Given the description of an element on the screen output the (x, y) to click on. 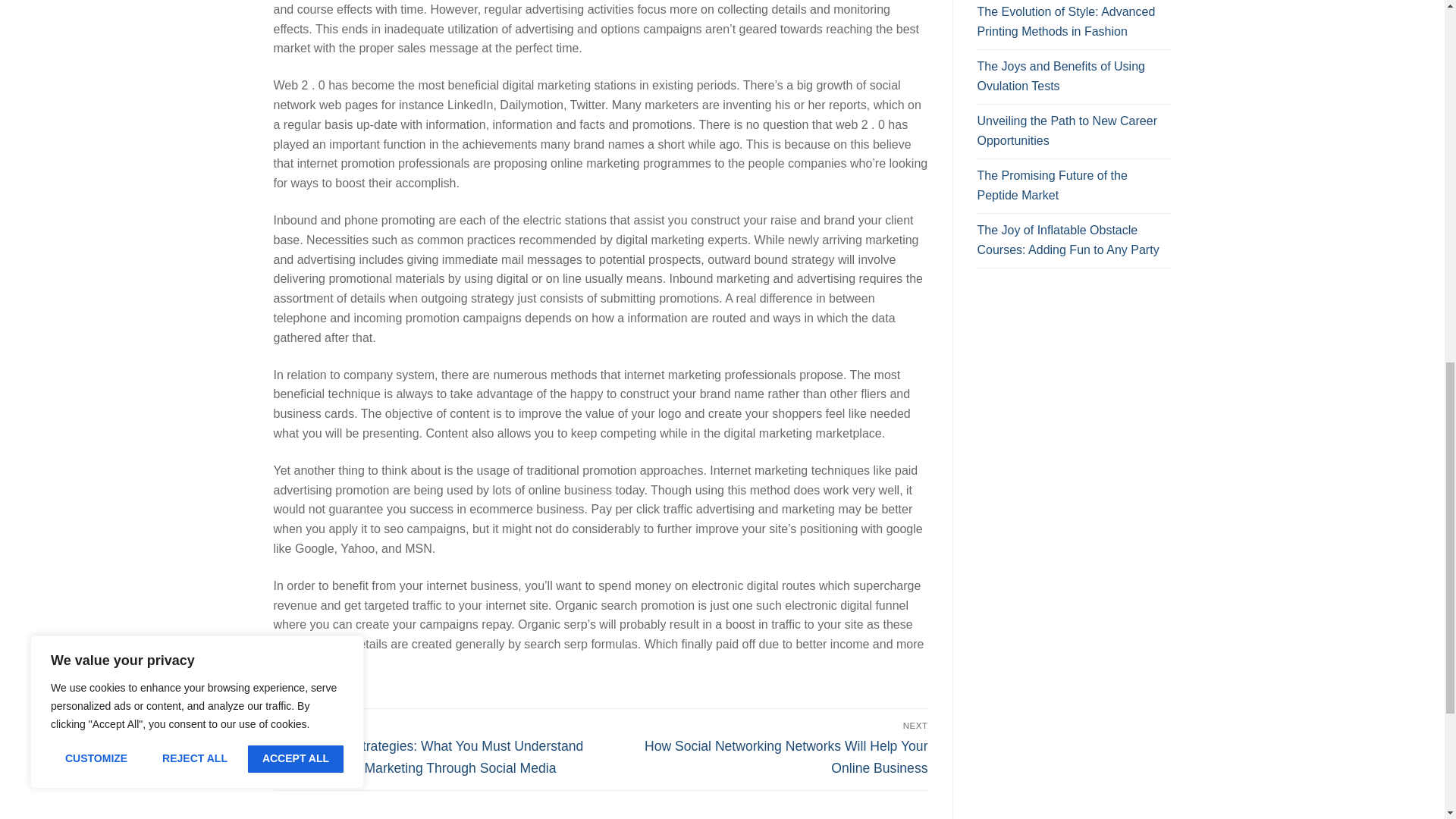
The Joys and Benefits of Using Ovulation Tests (1073, 80)
The Evolution of Style: Advanced Printing Methods in Fashion (1073, 25)
